Given the description of an element on the screen output the (x, y) to click on. 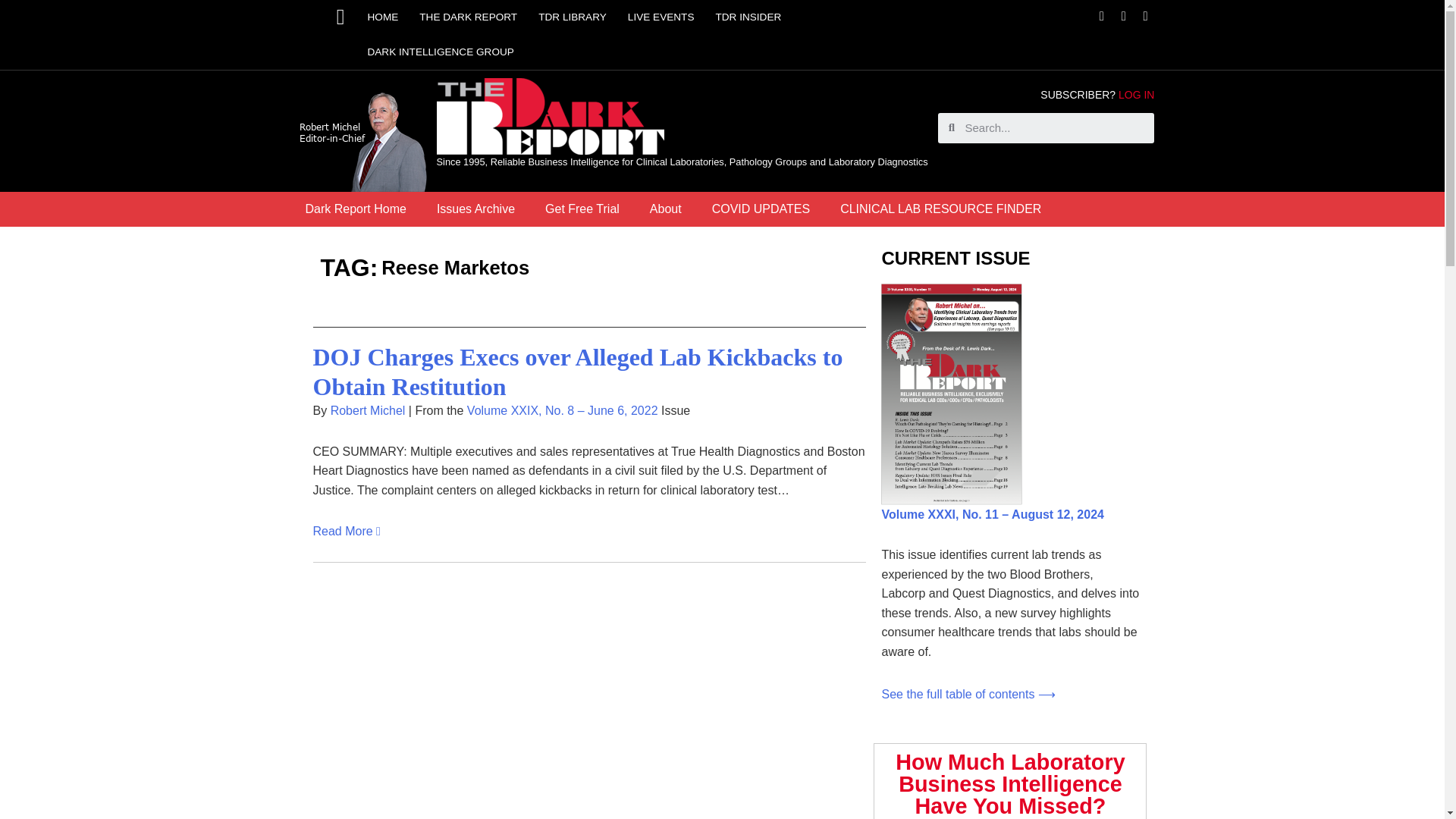
THE DARK REPORT (468, 17)
View issue (991, 513)
Linkedin-in (1145, 16)
View issue (967, 694)
LIVE EVENTS (660, 17)
Twitter (1123, 16)
COVID UPDATES (761, 208)
TDR LIBRARY (572, 17)
LOG IN (1136, 94)
About (665, 208)
